Given the description of an element on the screen output the (x, y) to click on. 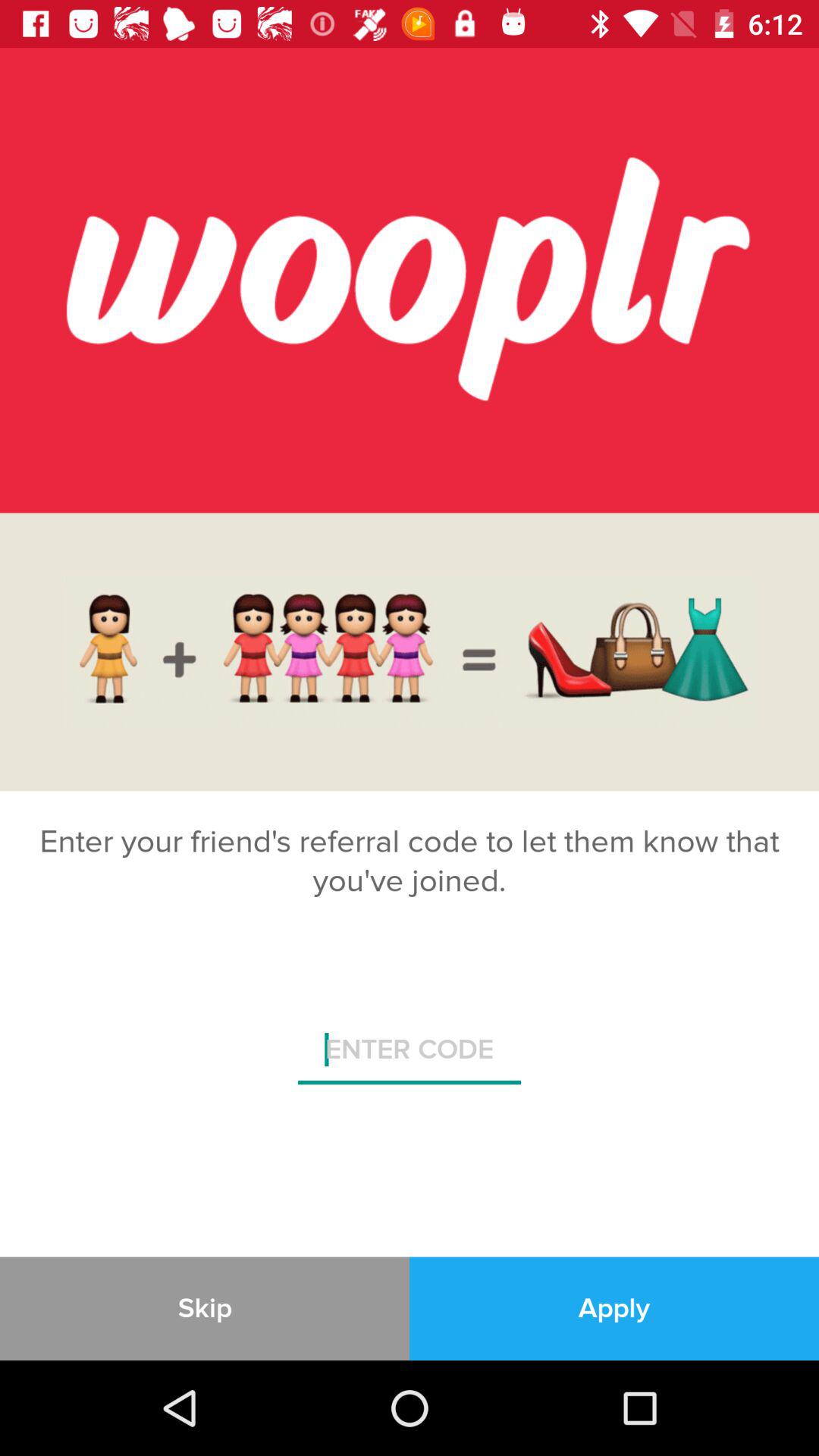
turn off item to the right of skip (614, 1308)
